Given the description of an element on the screen output the (x, y) to click on. 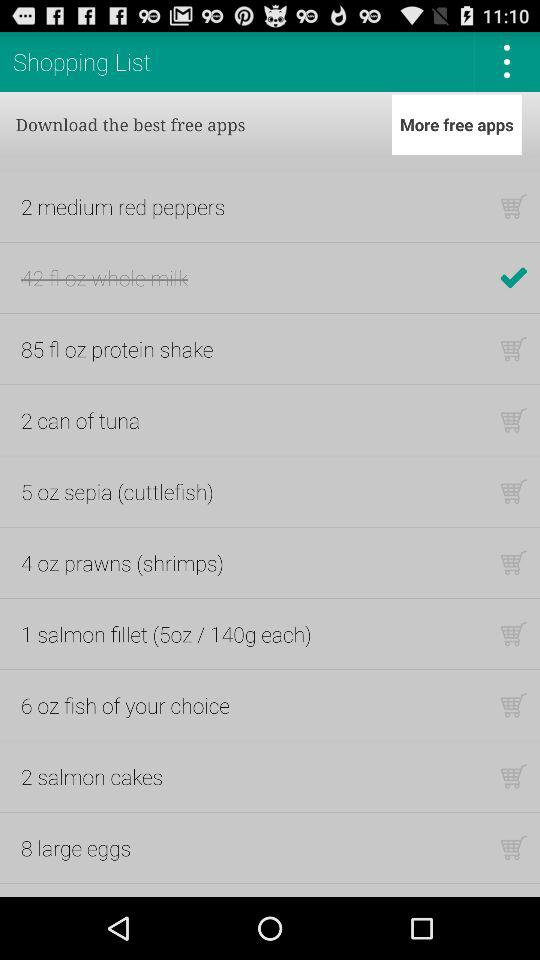
flip until the 2 medium red (123, 206)
